Given the description of an element on the screen output the (x, y) to click on. 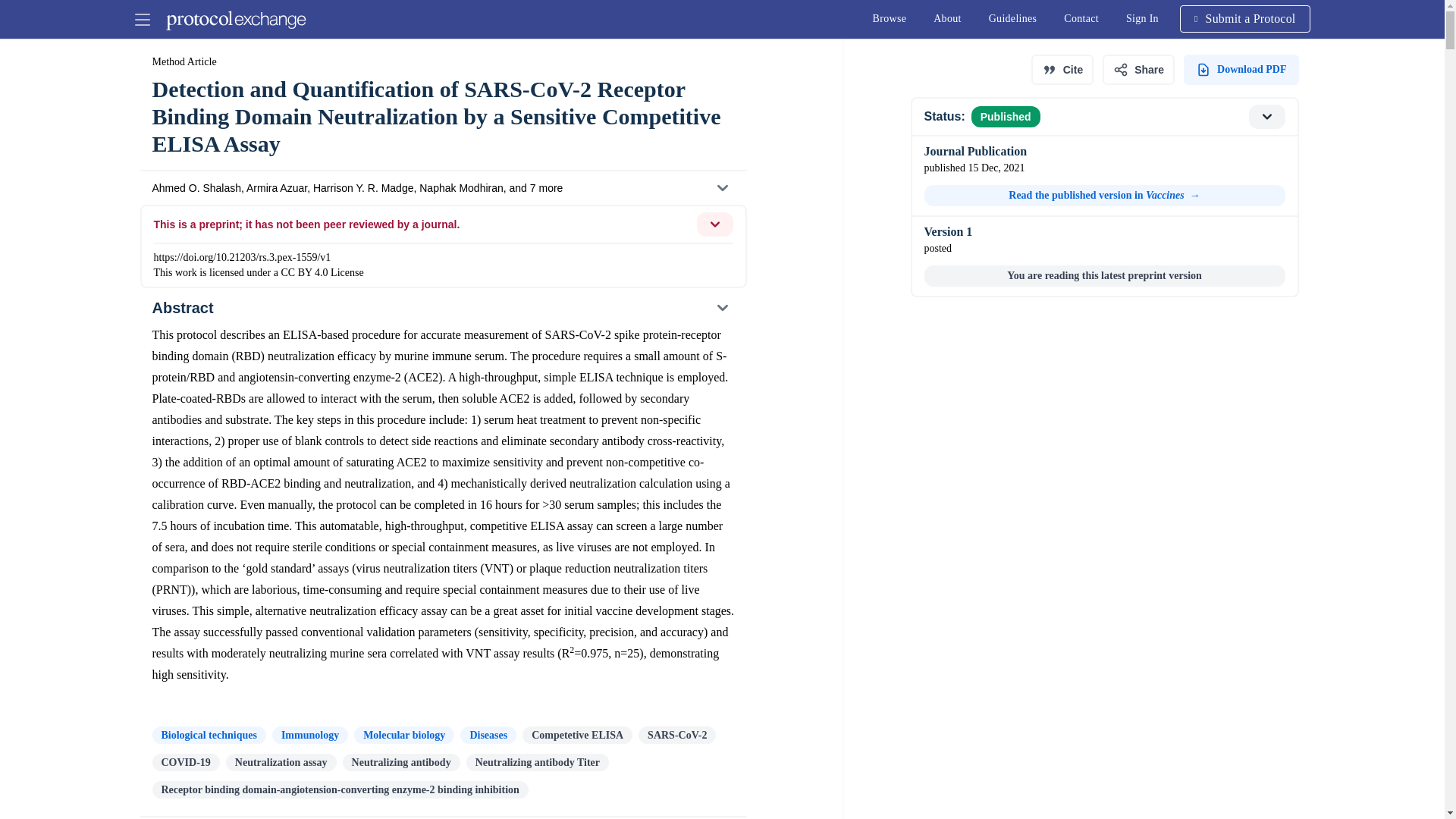
Diseases (488, 734)
Molecular biology (403, 734)
Guidelines (1013, 18)
Abstract (442, 307)
Browse (889, 18)
Sign In (1142, 18)
About (947, 18)
